Given the description of an element on the screen output the (x, y) to click on. 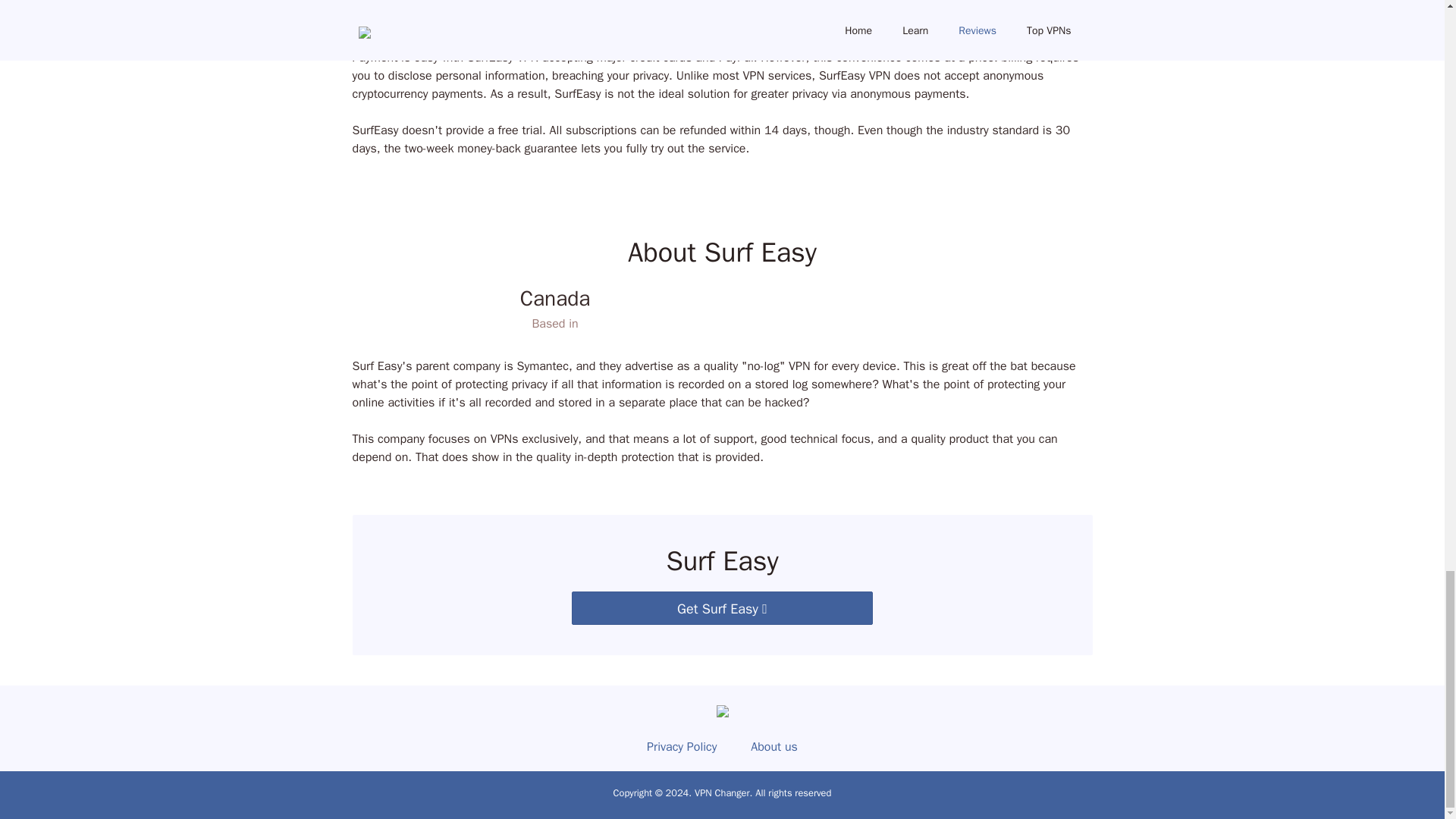
Privacy Policy (681, 746)
About us (774, 746)
Get Surf Easy (722, 607)
